Given the description of an element on the screen output the (x, y) to click on. 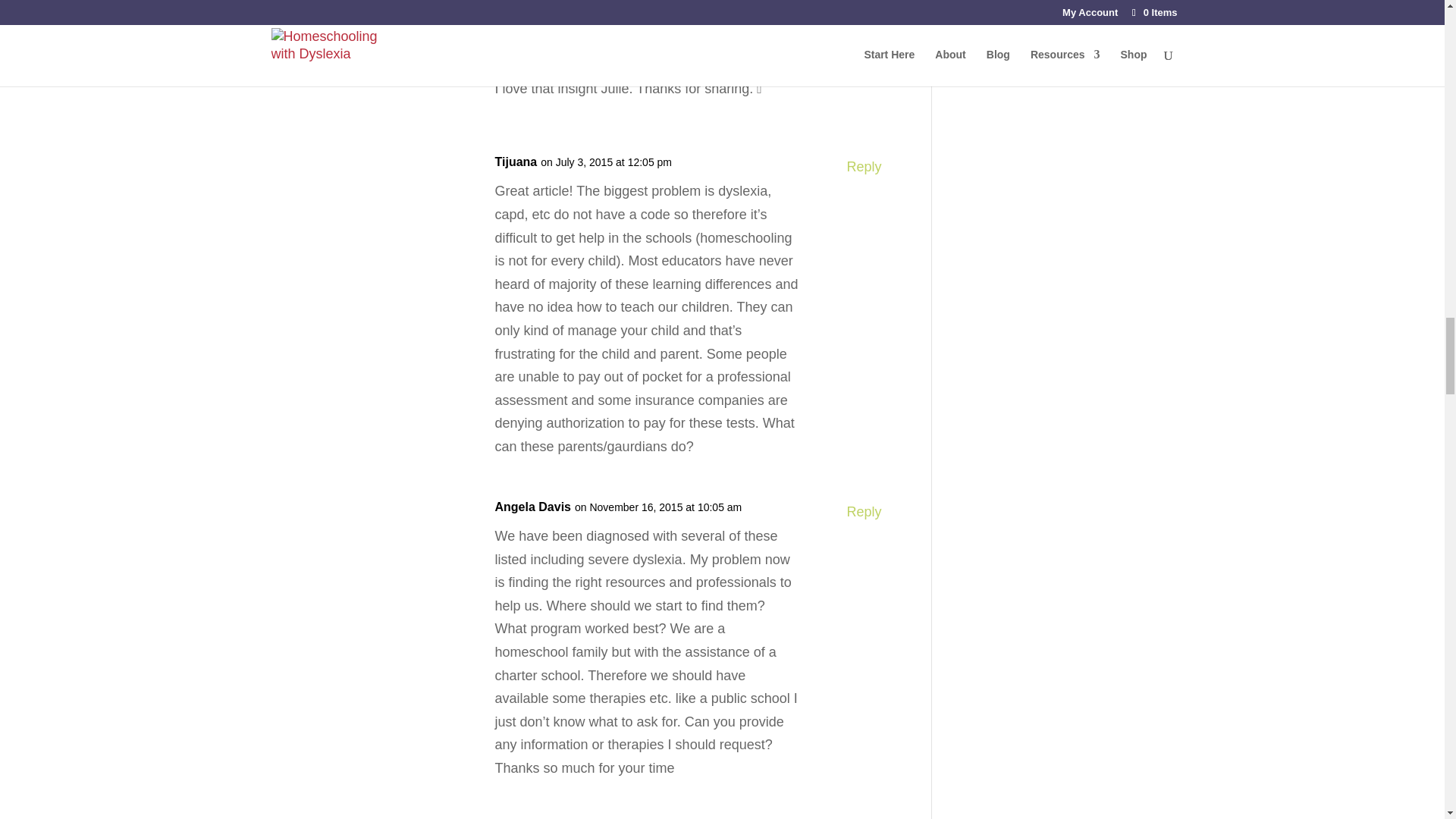
Reply (862, 167)
Reply (862, 64)
Reply (862, 512)
